Given the description of an element on the screen output the (x, y) to click on. 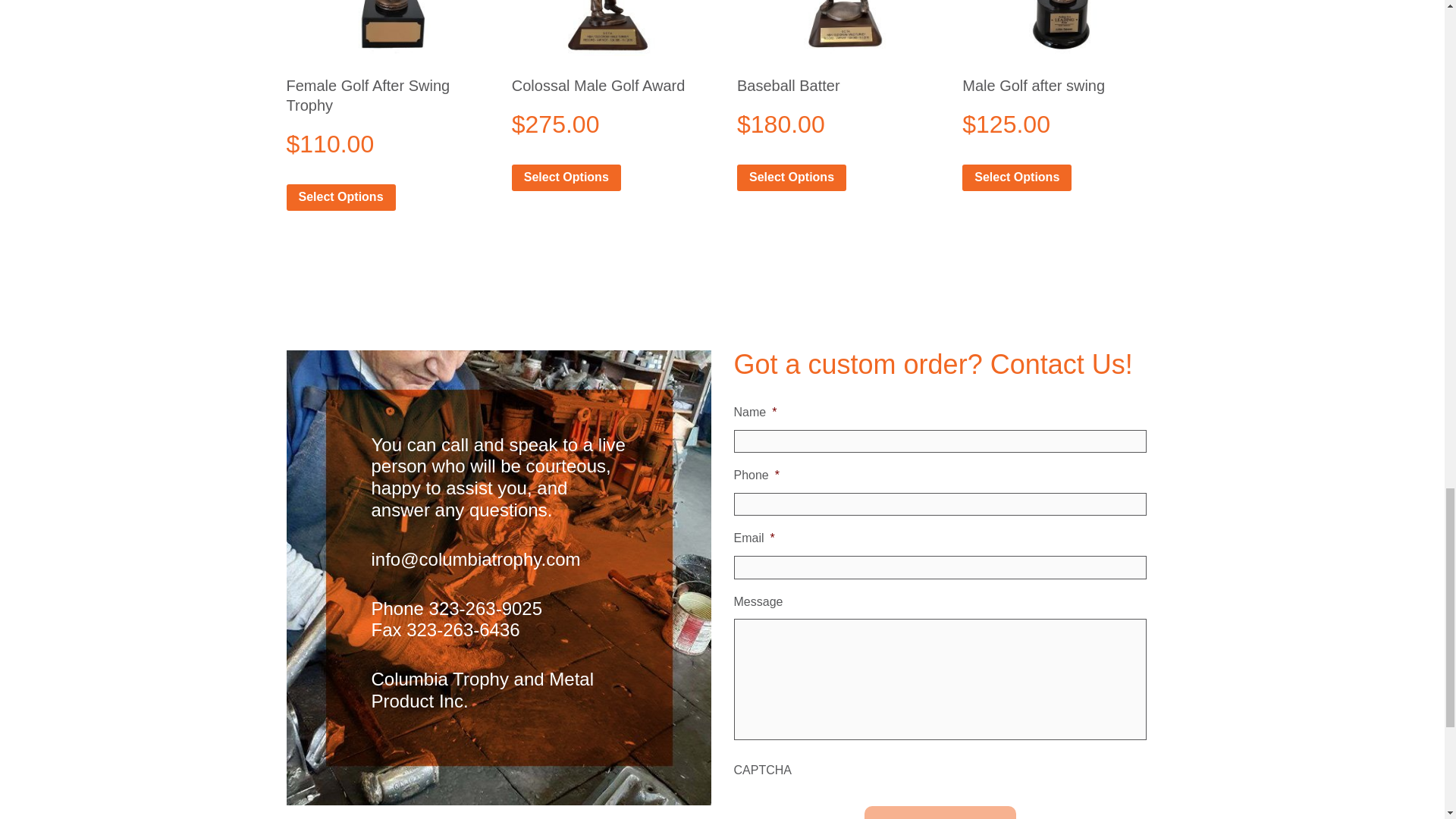
Baseball Batter Solid Metal (833, 28)
Male Golf after swing Solid Metal (1058, 28)
Colossal Male Golf Award Solid Metal (608, 28)
Female Golf After Swing Trophy Solid Metal (382, 28)
Submit (940, 812)
Select Options (341, 197)
